Given the description of an element on the screen output the (x, y) to click on. 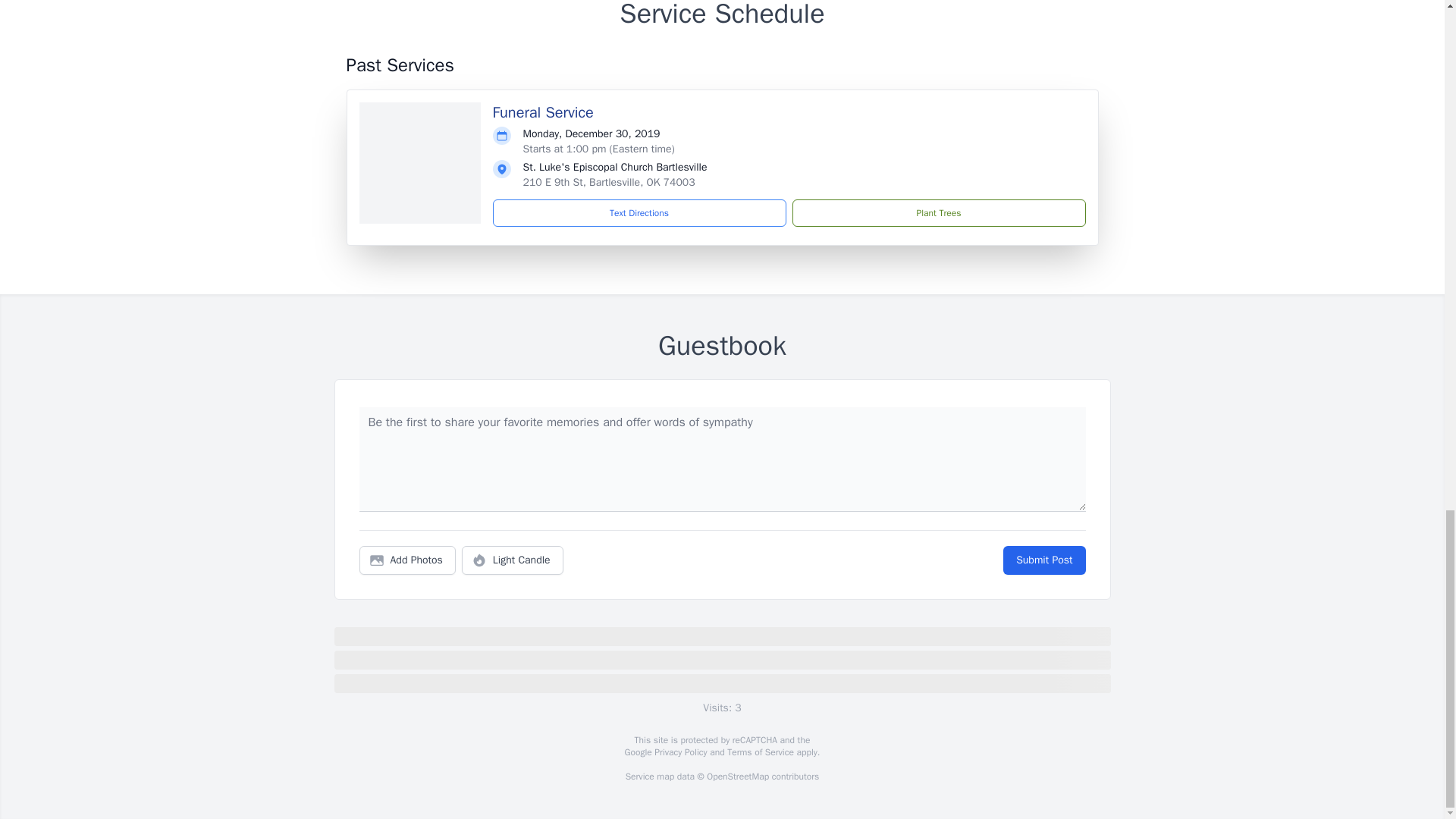
Submit Post (1043, 560)
Plant Trees (938, 212)
Light Candle (512, 560)
210 E 9th St, Bartlesville, OK 74003 (608, 182)
Add Photos (407, 560)
Privacy Policy (679, 752)
Terms of Service (759, 752)
Text Directions (639, 212)
OpenStreetMap (737, 776)
